Given the description of an element on the screen output the (x, y) to click on. 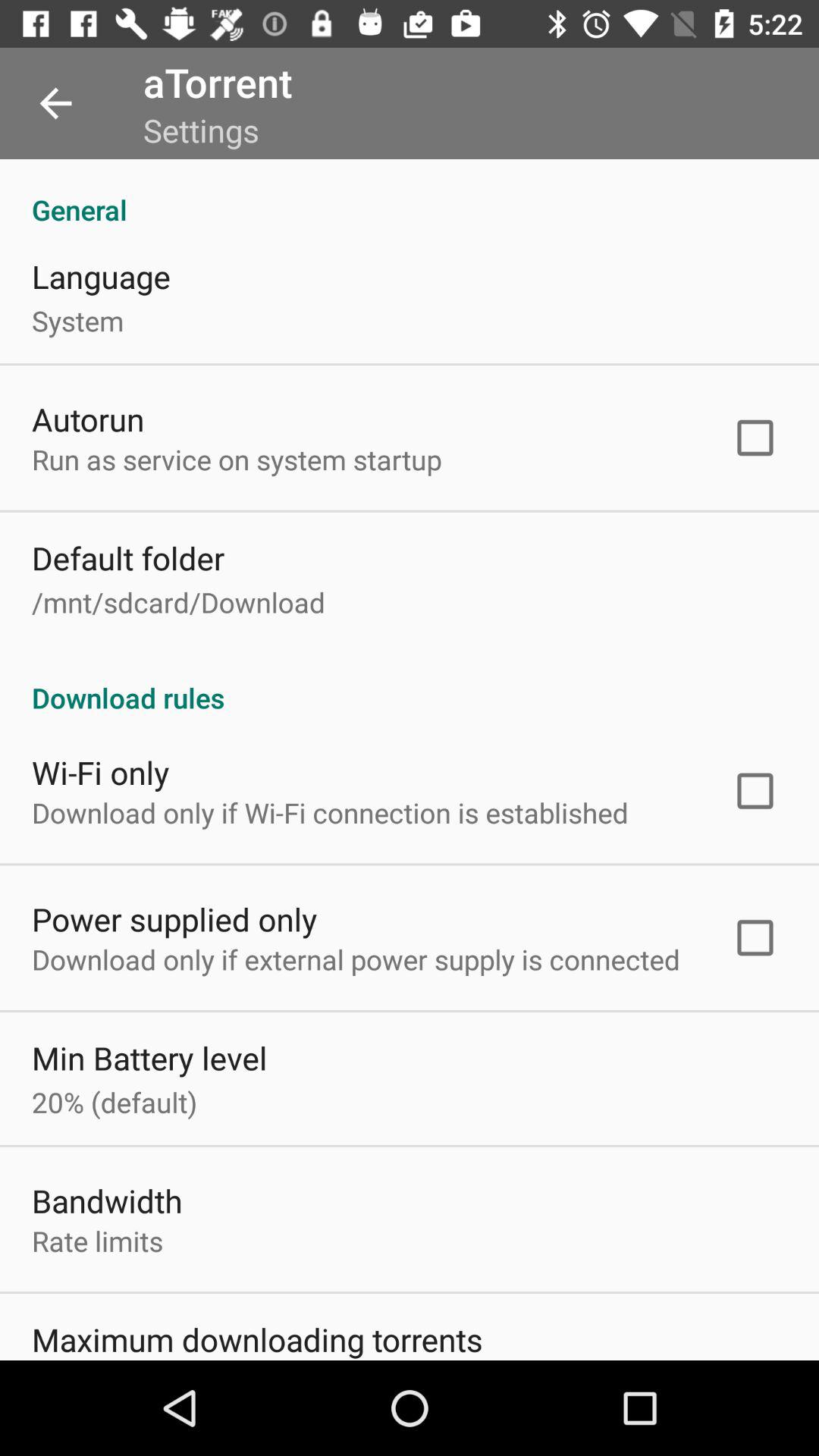
jump until the min battery level item (149, 1057)
